Given the description of an element on the screen output the (x, y) to click on. 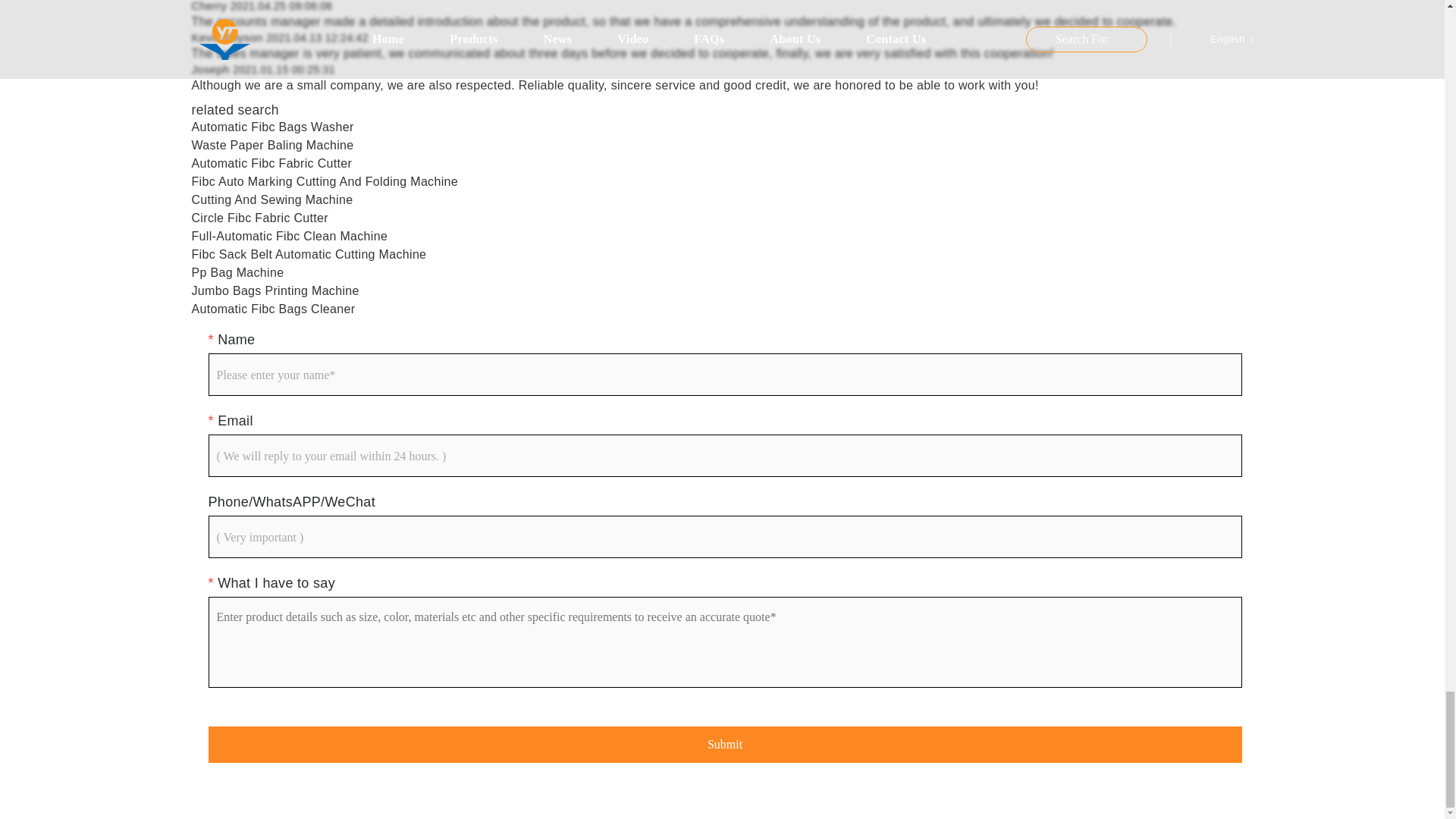
Submit (724, 744)
